Given the description of an element on the screen output the (x, y) to click on. 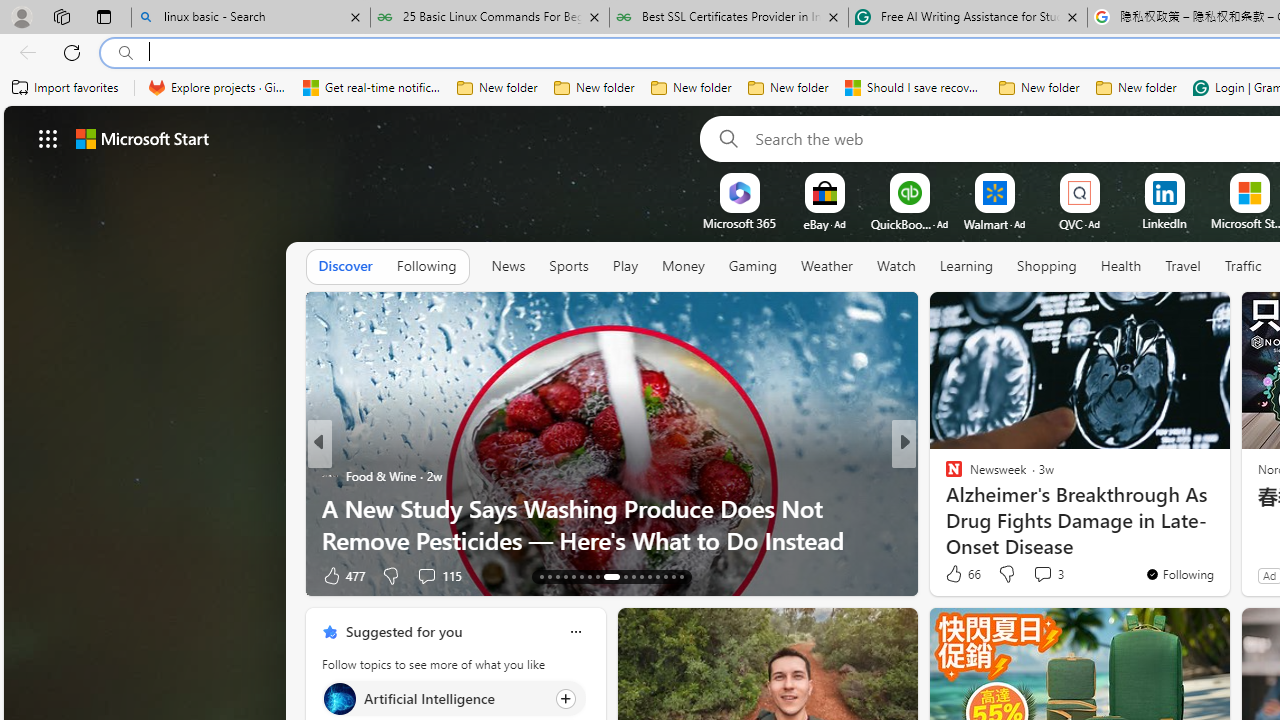
Artificial Intelligence (338, 697)
AutomationID: tab-14 (549, 576)
Play (625, 267)
oceanbluemarine (982, 507)
328 Like (959, 574)
Shopping (1047, 265)
Shopping (1046, 267)
AutomationID: tab-26 (656, 576)
34 Like (956, 574)
Weather (826, 267)
Money (682, 267)
